Given the description of an element on the screen output the (x, y) to click on. 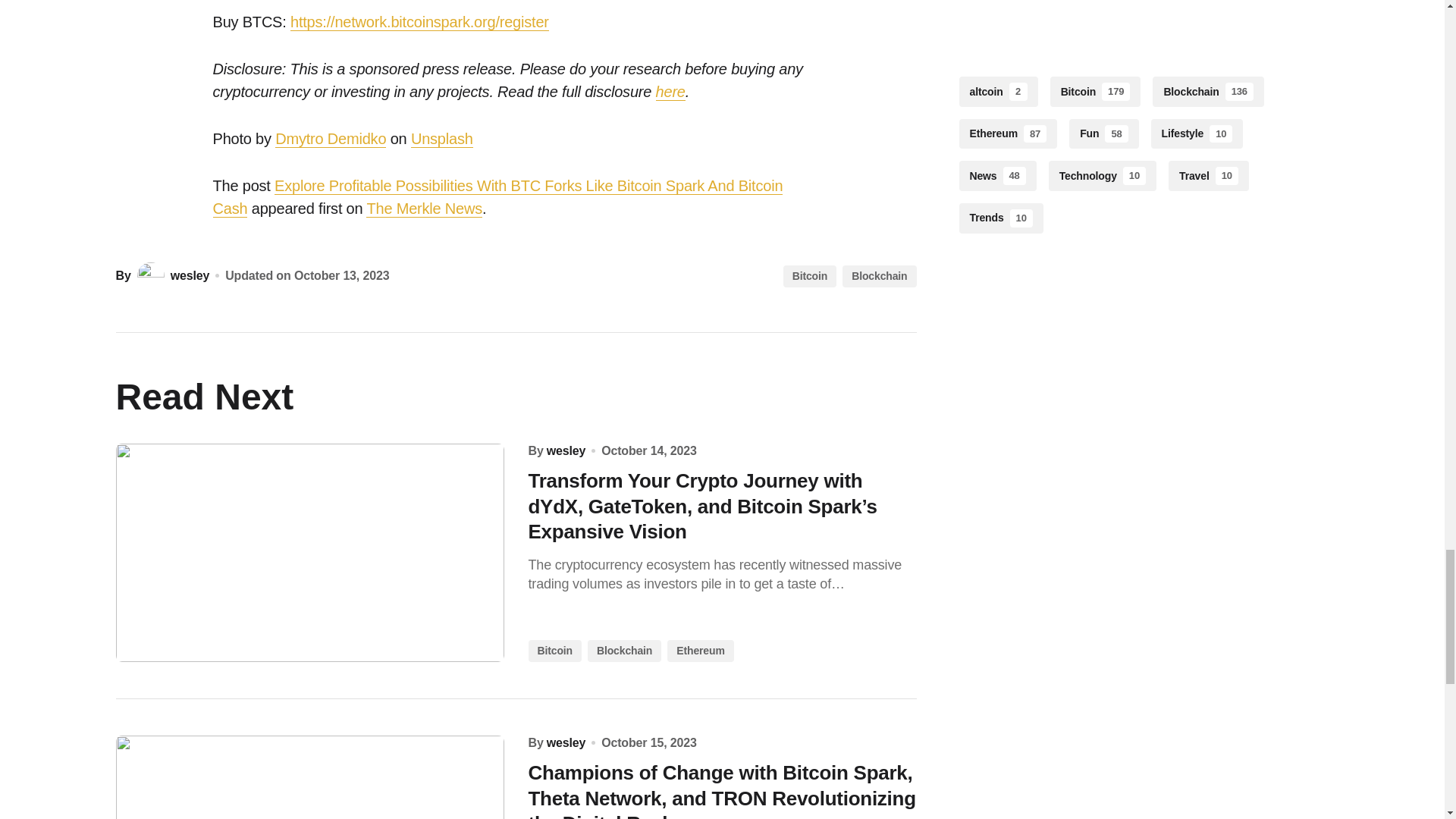
wesley (171, 275)
Bitcoin (809, 276)
Unsplash (441, 139)
The Merkle News (423, 208)
Dmytro Demidko (330, 139)
here (670, 91)
